Given the description of an element on the screen output the (x, y) to click on. 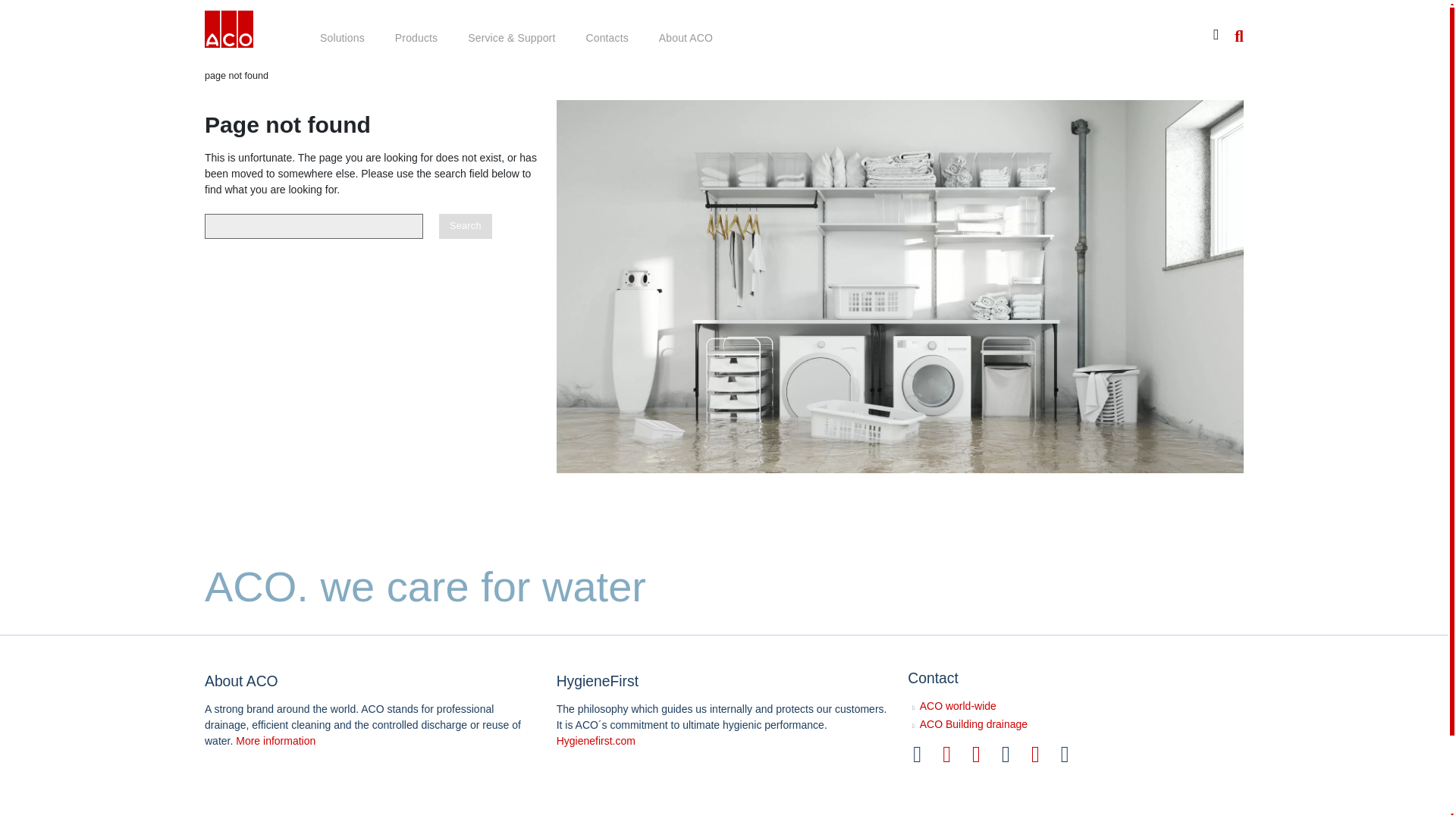
Products (416, 38)
Solutions (341, 38)
Solutions (341, 38)
Building Drainage (229, 28)
Building Drainage (229, 31)
